Given the description of an element on the screen output the (x, y) to click on. 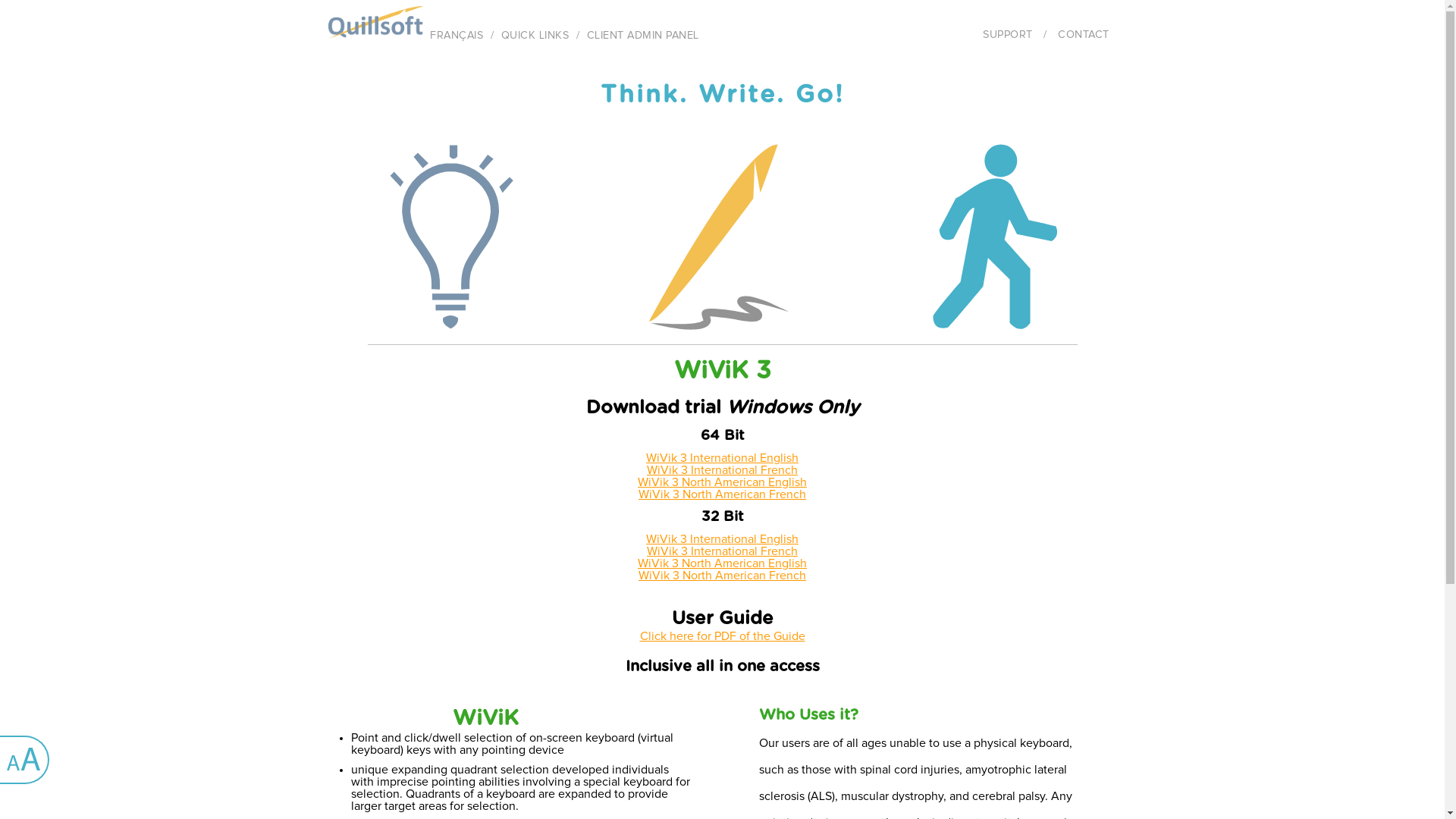
WiVik 3 International English Element type: text (722, 539)
WiVik 3 International French Element type: text (721, 470)
Click here for PDF of the Guide Element type: text (722, 636)
WiVik 3 North American French Element type: text (722, 575)
WiVik 3 North American English Element type: text (721, 482)
QUICK LINKS Element type: text (535, 27)
CONTACT Element type: text (1083, 34)
WiVik 3 North American French Element type: text (722, 494)
SUPPORT Element type: text (1007, 34)
WiVik 3 International English Element type: text (722, 457)
WiVik 3 International French Element type: text (721, 551)
WiVik 3 North American English Element type: text (721, 563)
CLIENT ADMIN PANEL Element type: text (642, 27)
